Given the description of an element on the screen output the (x, y) to click on. 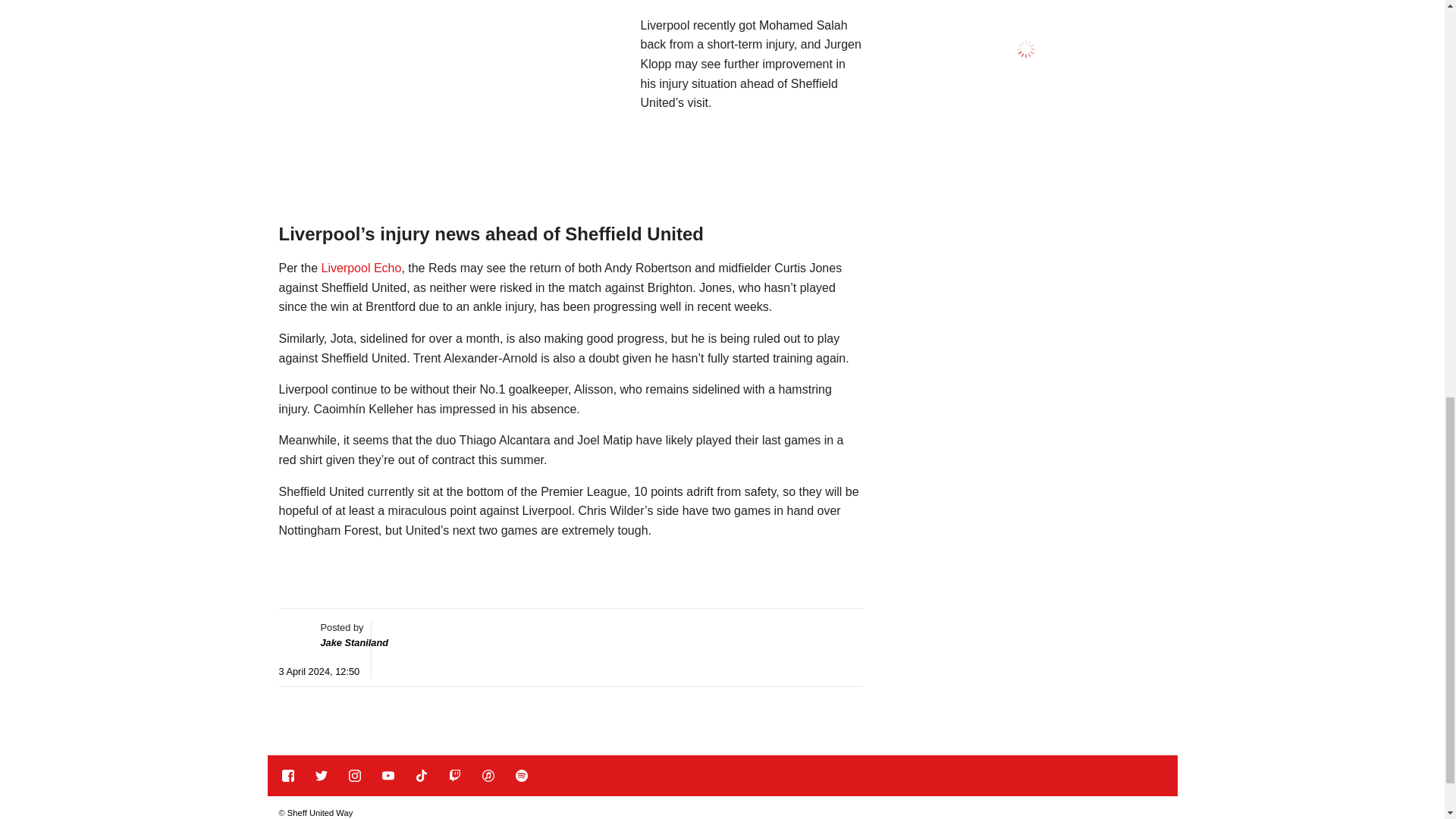
Liverpool Echo (361, 267)
